Given the description of an element on the screen output the (x, y) to click on. 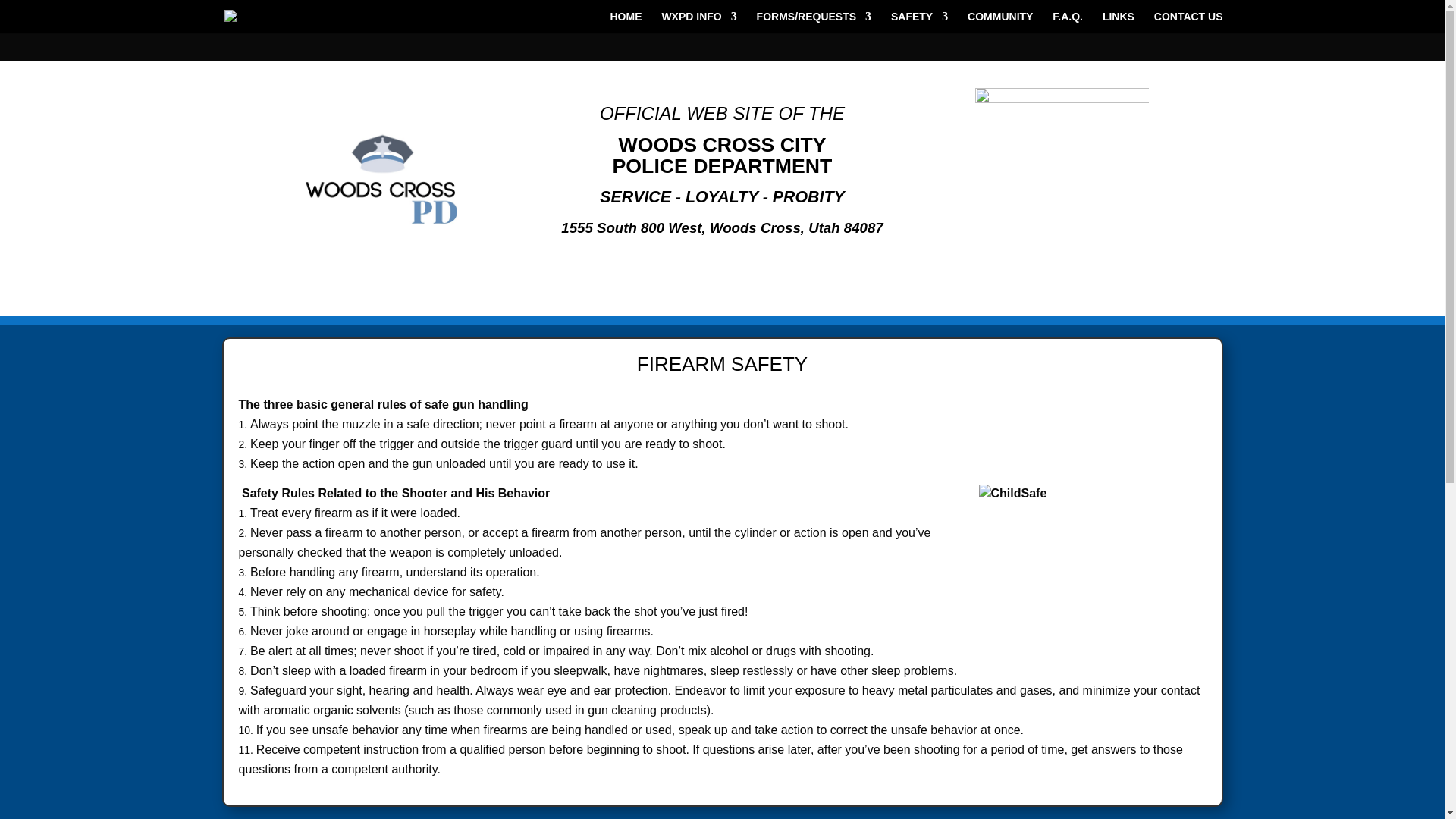
LINKS (1118, 22)
HOME (626, 22)
CONTACT US (1188, 22)
SAFETY (919, 22)
WXPD INFO (698, 22)
6DEA578B-6F59-456A-A349-374A8D1F4F7B (381, 187)
COMMUNITY (1000, 22)
F.A.Q. (1067, 22)
